Given the description of an element on the screen output the (x, y) to click on. 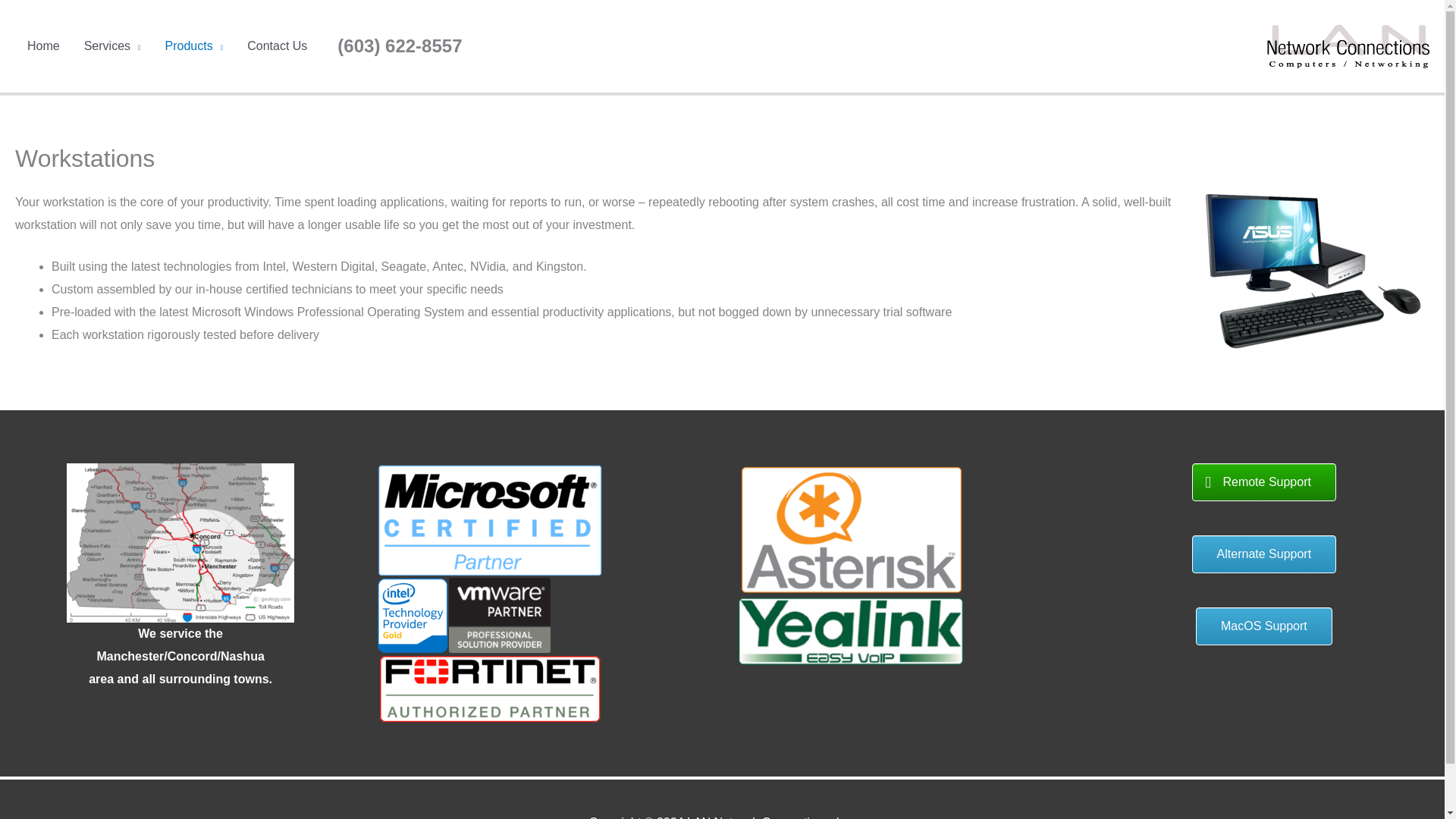
Home (42, 46)
Services (111, 46)
Products (193, 46)
Contact Us (276, 46)
Alternate Support (1264, 554)
MacOS Support (1263, 626)
Remote Support (1264, 482)
